Given the description of an element on the screen output the (x, y) to click on. 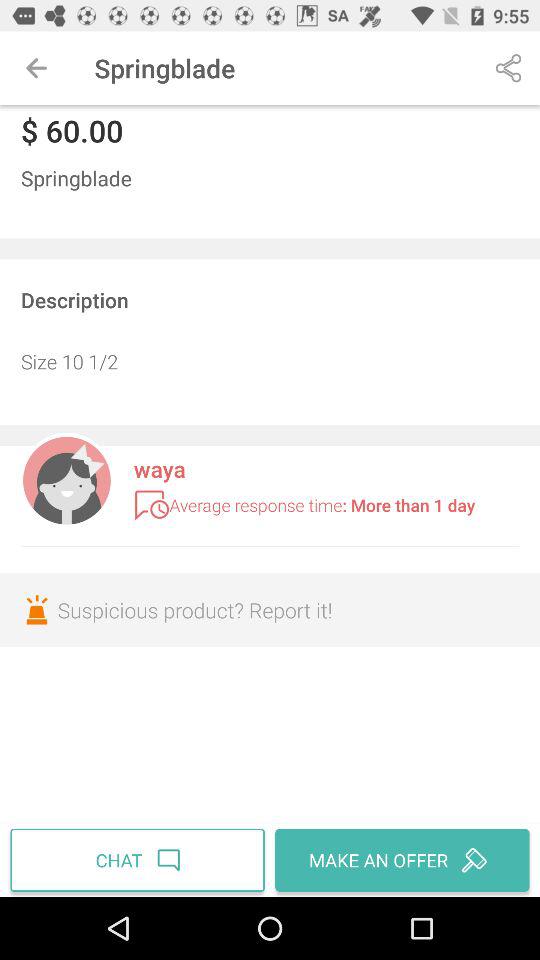
turn off icon next to springblade  item (508, 67)
